Given the description of an element on the screen output the (x, y) to click on. 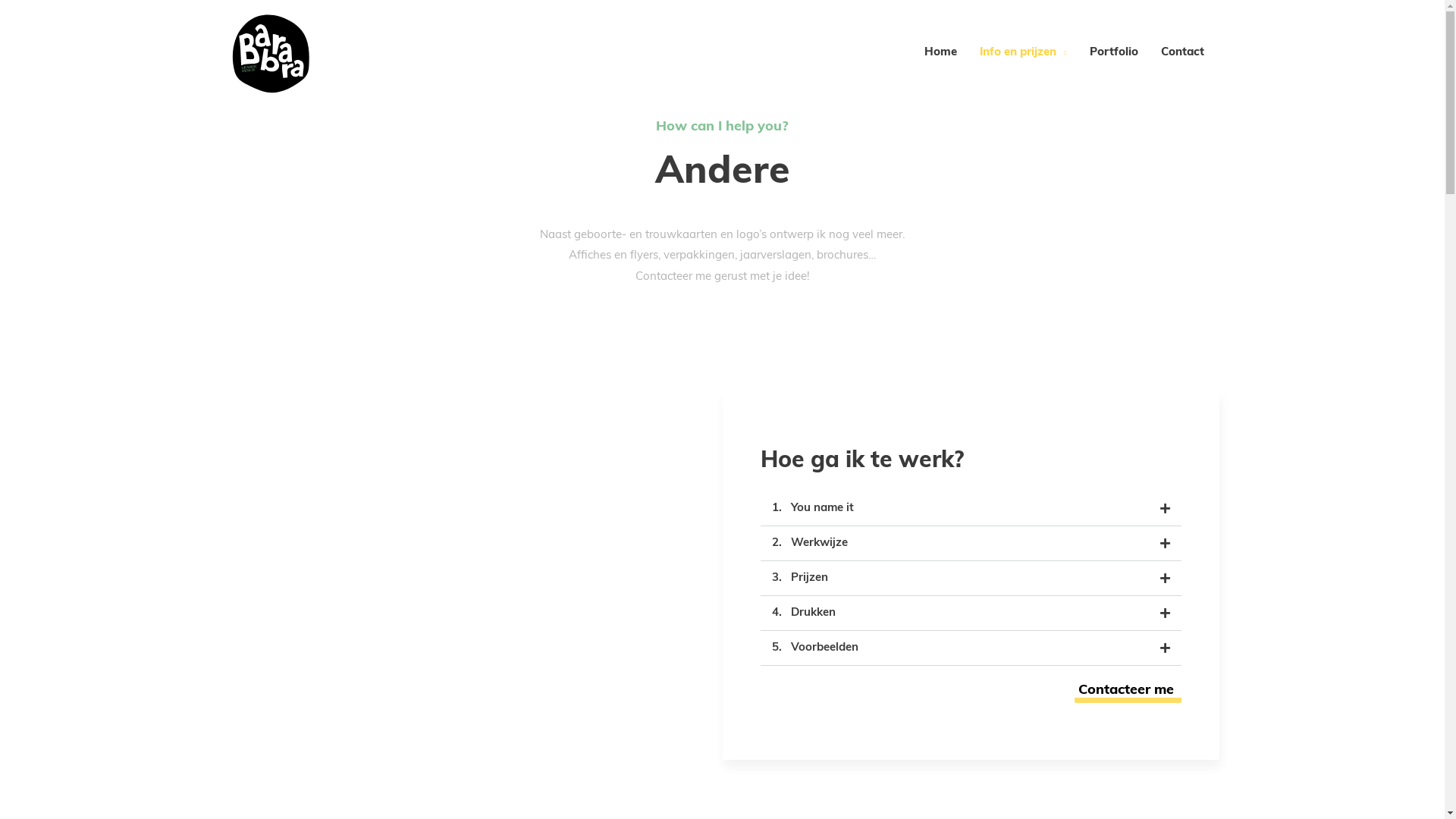
Contacteer me Element type: text (1126, 692)
Info en prijzen Element type: text (1022, 53)
Portfolio Element type: text (1113, 53)
2.   Werkwijze Element type: text (809, 543)
5.   Voorbeelden Element type: text (814, 647)
1.   You name it Element type: text (812, 508)
Home Element type: text (940, 53)
3.   Prijzen Element type: text (799, 577)
4.   Drukken Element type: text (803, 612)
Contact Element type: text (1182, 53)
